Given the description of an element on the screen output the (x, y) to click on. 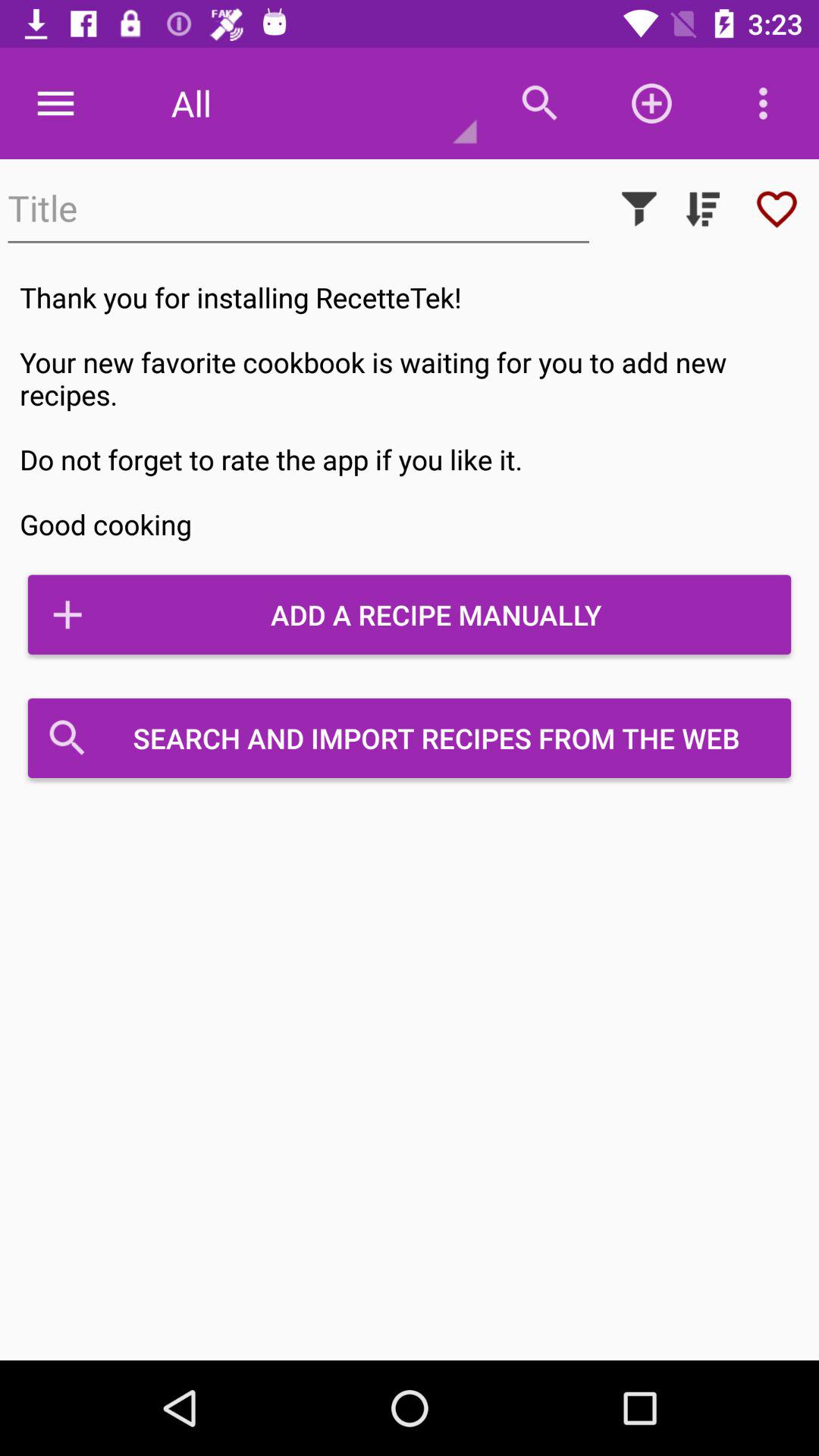
choose the item next to the all icon (55, 103)
